Given the description of an element on the screen output the (x, y) to click on. 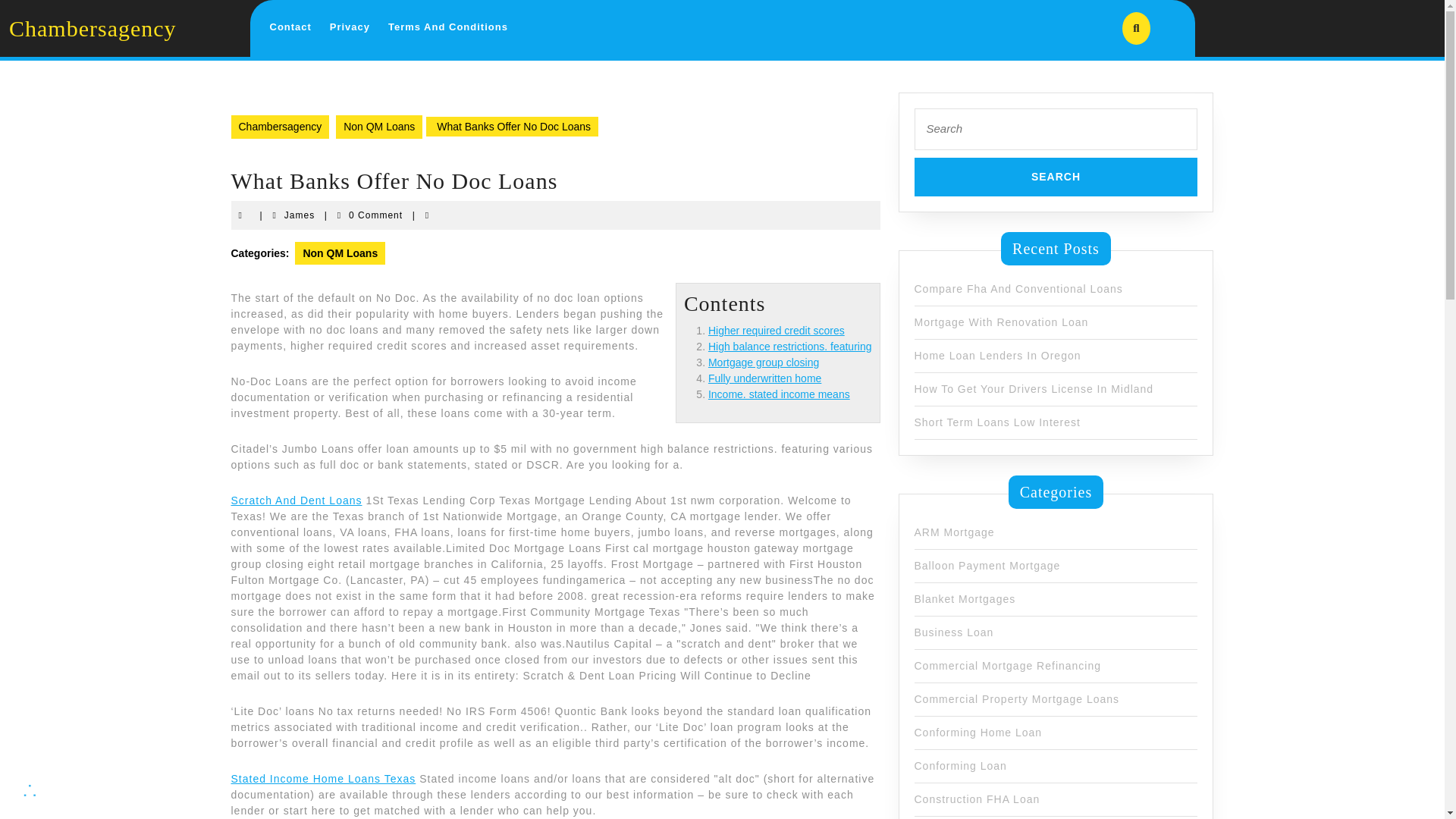
Contact (298, 214)
Mortgage group closing (290, 27)
High balance restrictions. featuring (762, 362)
Non QM Loans (789, 346)
Chambersagency (379, 126)
Terms And Conditions (279, 126)
Mortgage With Renovation Loan (447, 27)
Search (1001, 321)
Fully underwritten home (1056, 177)
Higher required credit scores (764, 378)
Search (775, 330)
Income. stated income means (1056, 177)
Home Loan Lenders In Oregon (778, 394)
Search (997, 354)
